Given the description of an element on the screen output the (x, y) to click on. 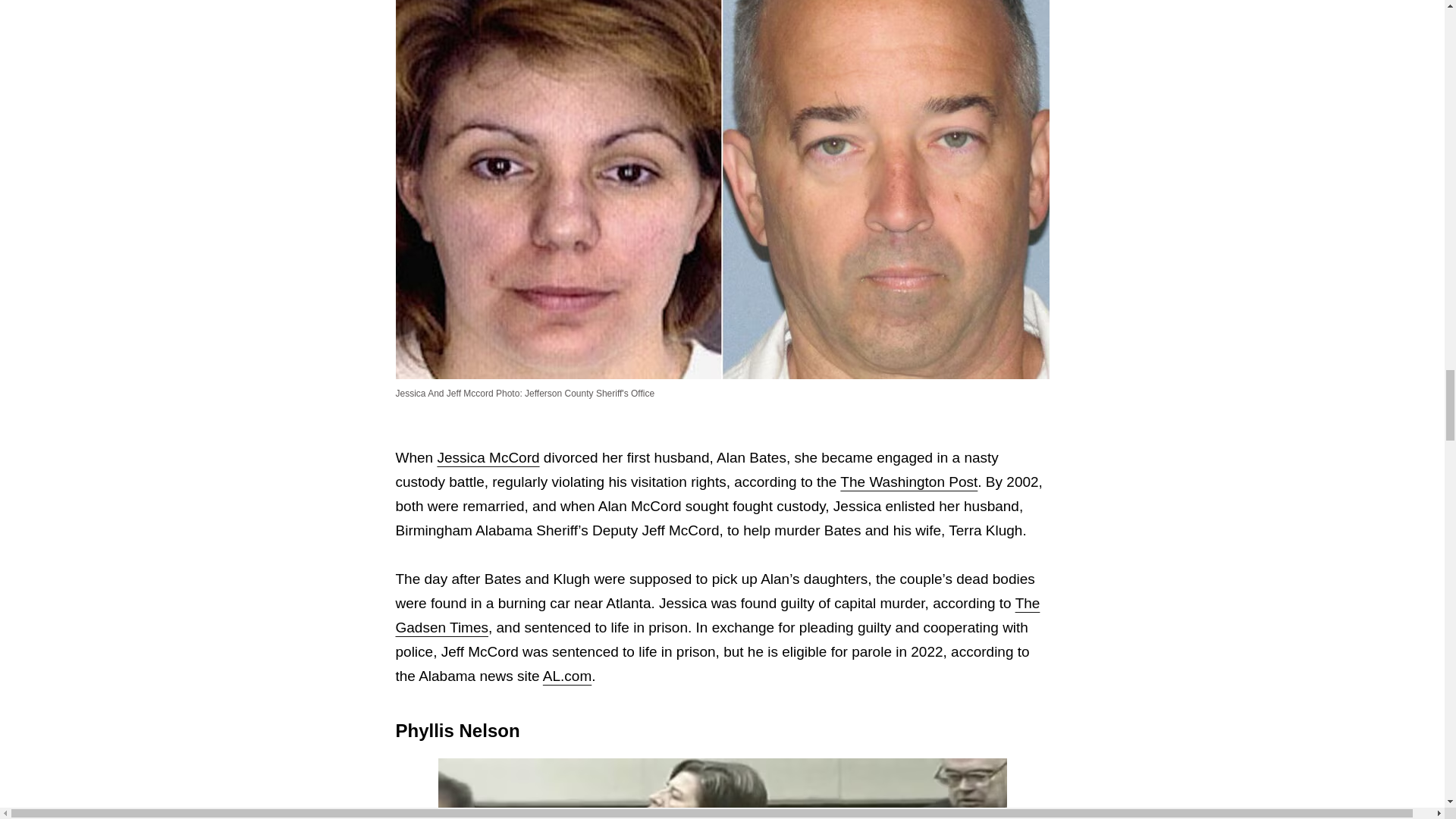
Jessica McCord (487, 457)
The Gadsen Times (718, 615)
AL.com (567, 675)
The Washington Post (908, 481)
